Given the description of an element on the screen output the (x, y) to click on. 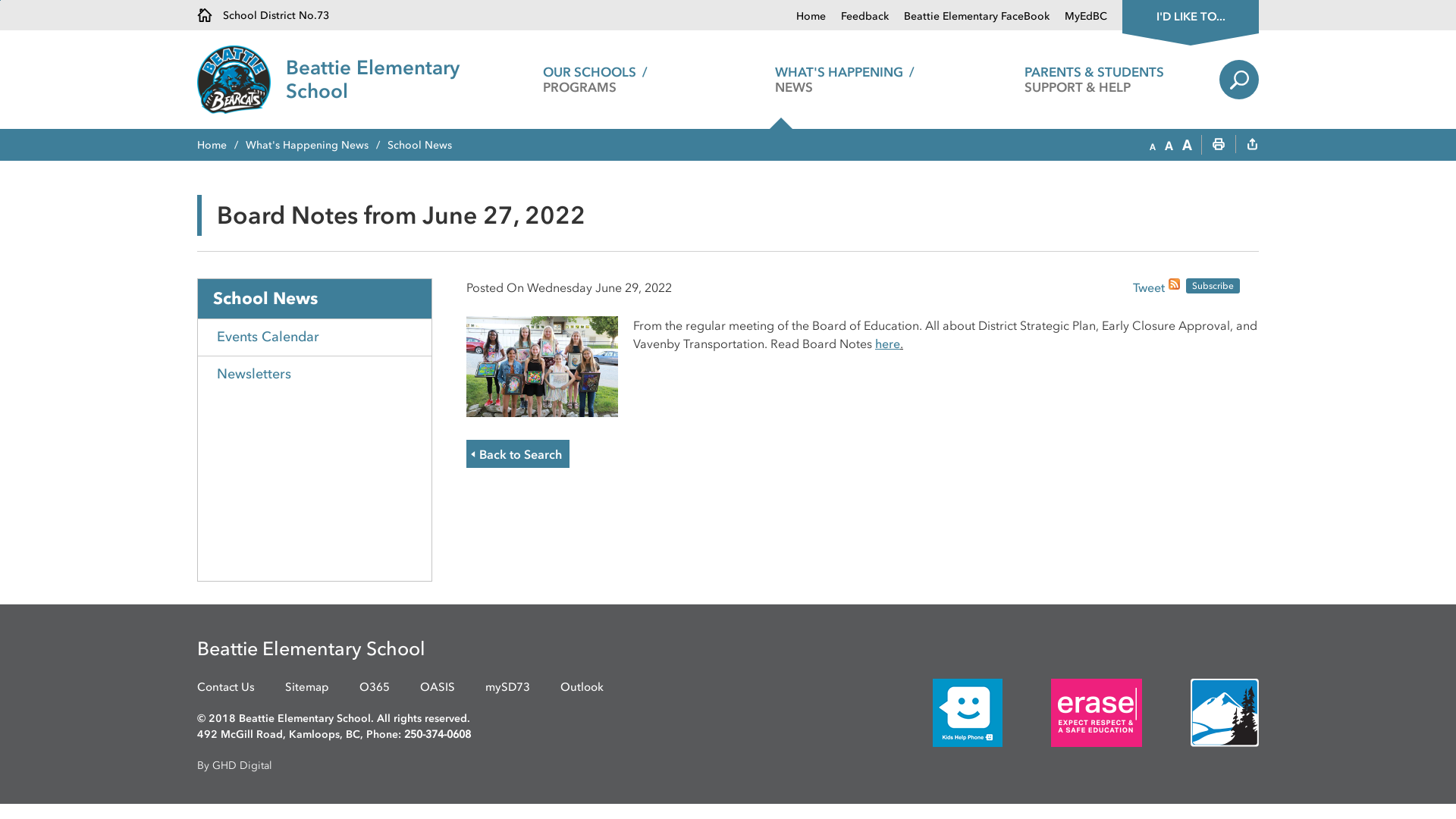
facebook like button Element type: hover (1093, 286)
Back to Search Element type: text (517, 453)
Expect Respect and a Safe Education Element type: hover (1096, 712)
Outlook Element type: text (581, 687)
Beattie Elementary
School Element type: text (372, 79)
Board Notes Element type: hover (542, 364)
Skip to Content Element type: text (0, 0)
Beattie Elementary FaceBook Element type: text (968, 15)
Increase text size Element type: hover (1187, 145)
Print This Page Element type: hover (1218, 145)
PARENTS & STUDENTS
SUPPORT & HELP Element type: text (1094, 79)
Subscribe Element type: text (1212, 285)
O365 Element type: text (374, 687)
Tweet Element type: text (1148, 288)
Events Calendar Element type: text (314, 336)
I'D LIKE TO... Element type: text (1190, 15)
250-374-0608 Element type: text (437, 734)
mySD73 Element type: text (507, 687)
Decrease text size Element type: hover (1152, 145)
School District No.73 Element type: text (263, 15)
OASIS Element type: text (437, 687)
Sitemap Element type: text (307, 687)
  Element type: text (1251, 145)
By GHD Digital Element type: text (727, 765)
Contact Us Element type: text (225, 687)
MyEdBC Element type: text (1078, 15)
Click to return to the homepage Element type: hover (241, 79)
Open new window to view Kids Help Phone Element type: hover (944, 712)
What's Happening News Element type: text (316, 144)
OUR SCHOOLS
PROGRAMS Element type: text (594, 79)
WHAT'S HAPPENING
NEWS Element type: text (844, 79)
Feedback Element type: text (856, 15)
Default text size Element type: hover (1168, 145)
Search Element type: text (1238, 79)
Newsletters Element type: text (314, 373)
here Element type: text (887, 343)
Home Element type: text (221, 144)
Home Element type: text (810, 15)
School News Element type: text (314, 298)
